Given the description of an element on the screen output the (x, y) to click on. 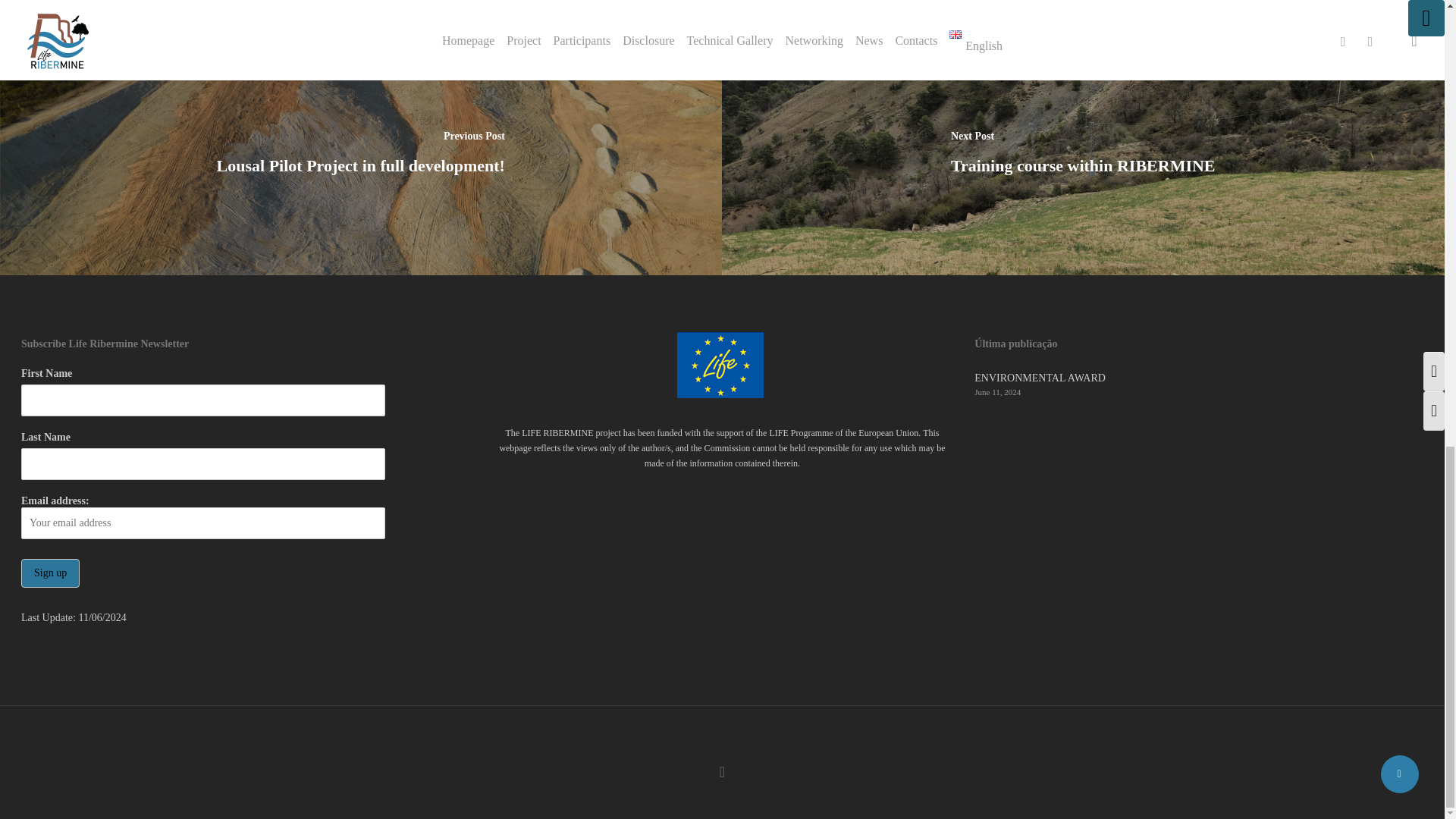
Sign up (50, 573)
